Given the description of an element on the screen output the (x, y) to click on. 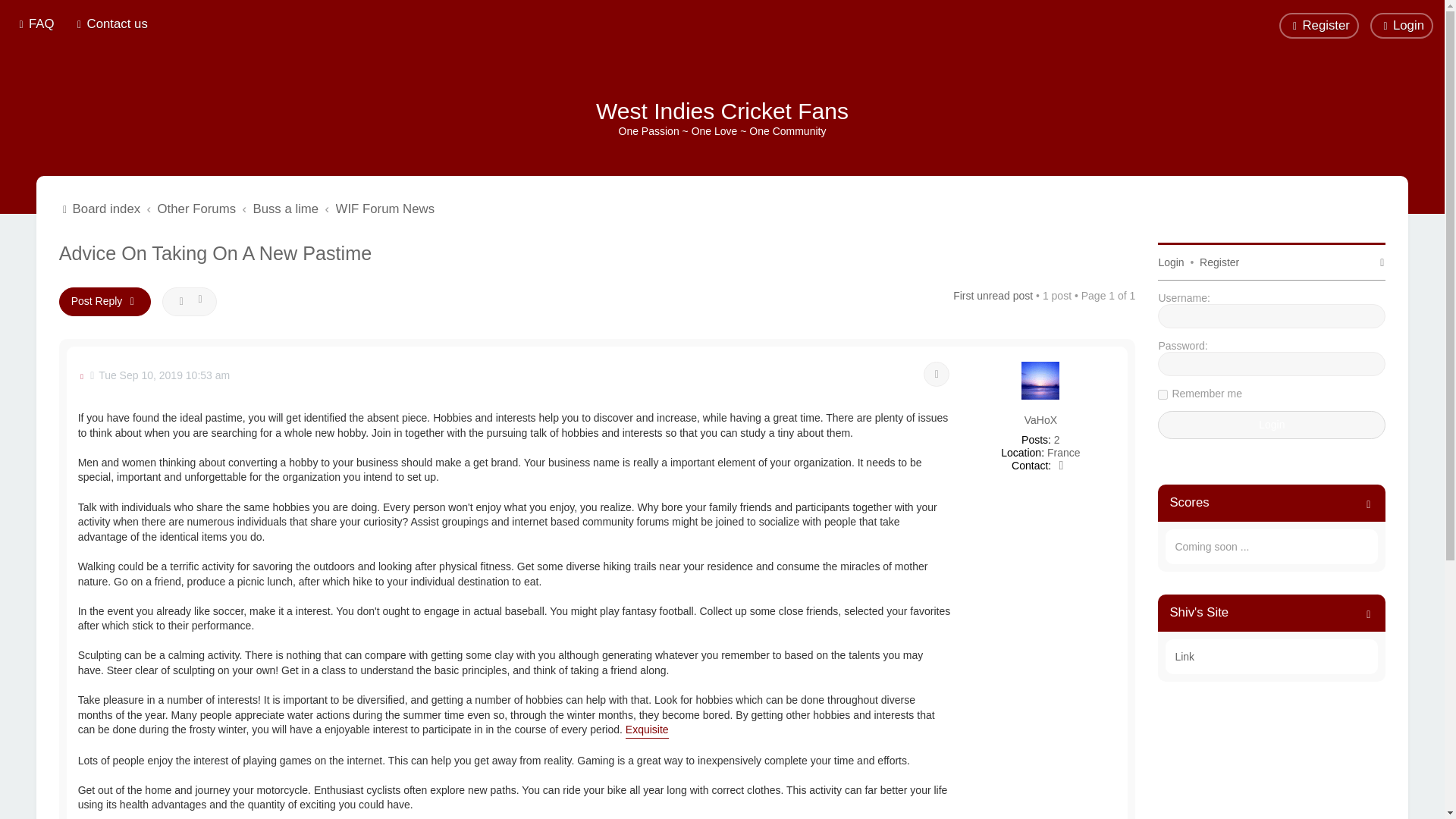
VaHoX (1041, 420)
Contact VaHoX (1062, 465)
Login (1271, 424)
Post a reply (105, 301)
Reply with quote (936, 374)
Post Reply (105, 301)
Other Forums (196, 209)
Board index (100, 209)
Tue Sep 10, 2019 10:53 am (160, 375)
Login (1401, 25)
